Given the description of an element on the screen output the (x, y) to click on. 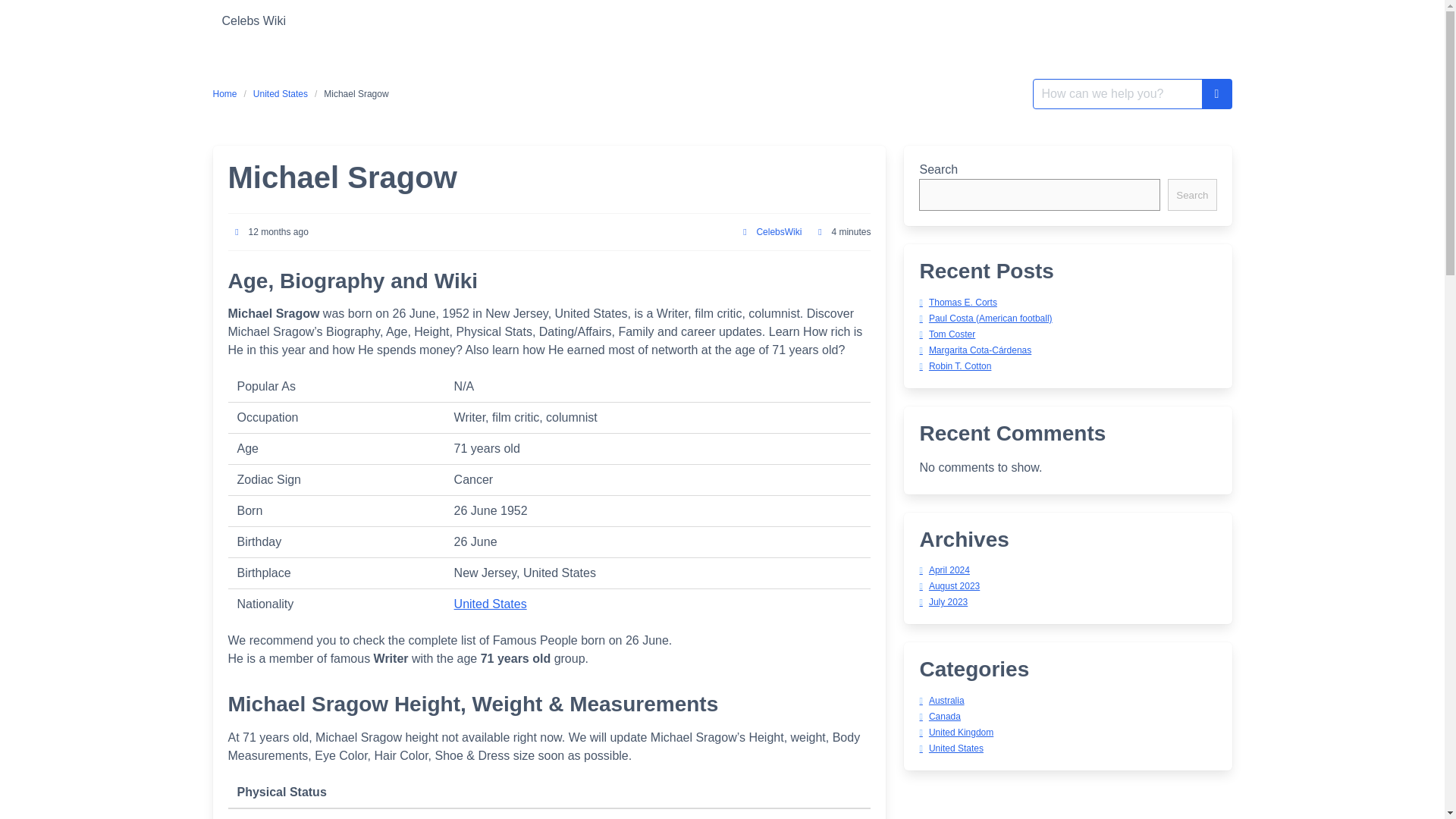
April 2024 (943, 570)
United States (950, 747)
CelebsWiki (778, 231)
Home (227, 93)
United States (280, 93)
Canada (938, 716)
Celebs Wiki (252, 21)
July 2023 (943, 602)
Australia (940, 700)
Robin T. Cotton (954, 366)
Search (1191, 194)
Celebs Wiki (252, 21)
Thomas E. Corts (956, 302)
United States (490, 603)
Tom Coster (946, 334)
